Given the description of an element on the screen output the (x, y) to click on. 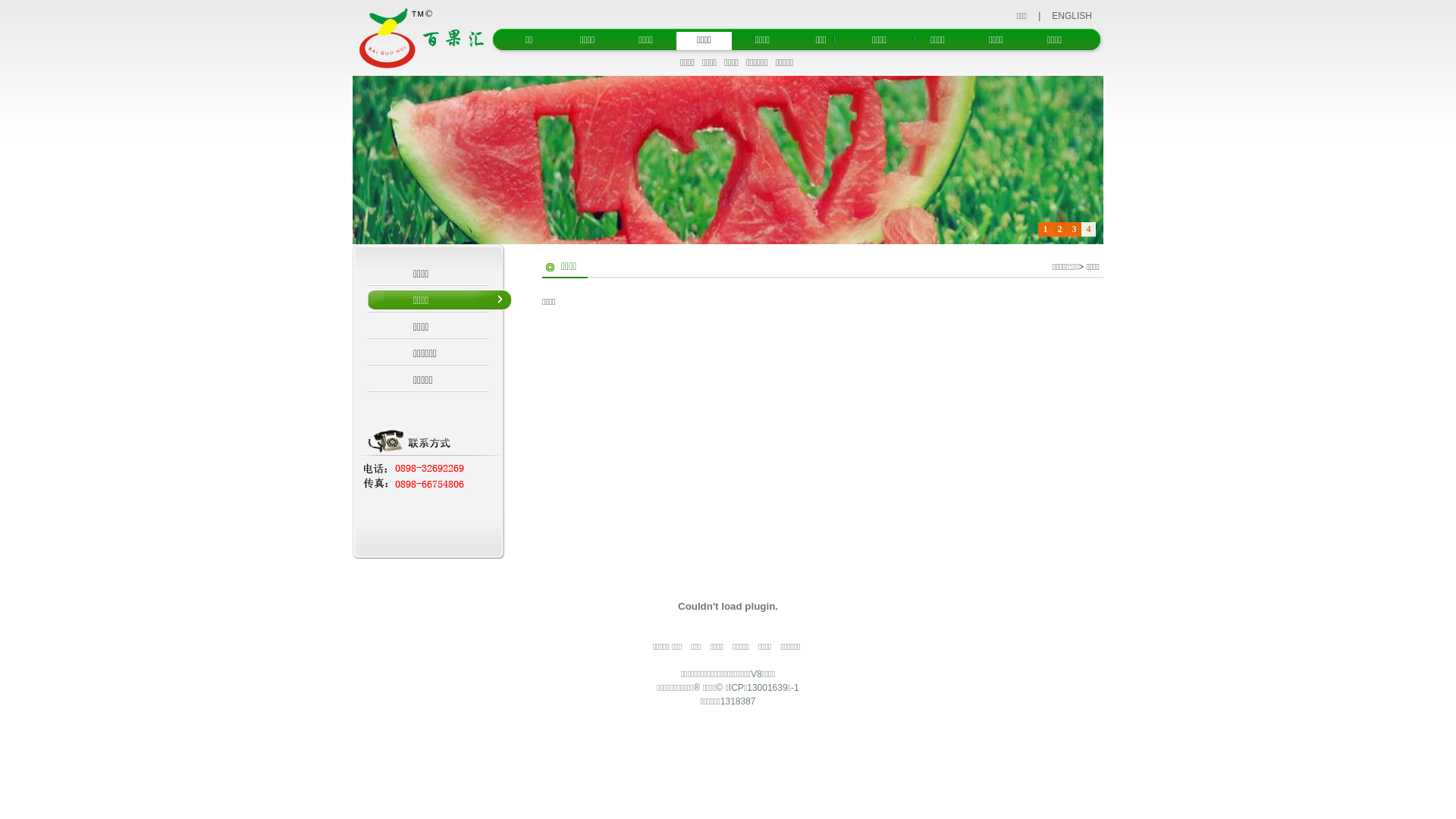
3 Element type: text (1073, 229)
4 Element type: text (1088, 229)
2 Element type: text (1059, 229)
1 Element type: text (1045, 229)
ENGLISH Element type: text (1071, 15)
